Given the description of an element on the screen output the (x, y) to click on. 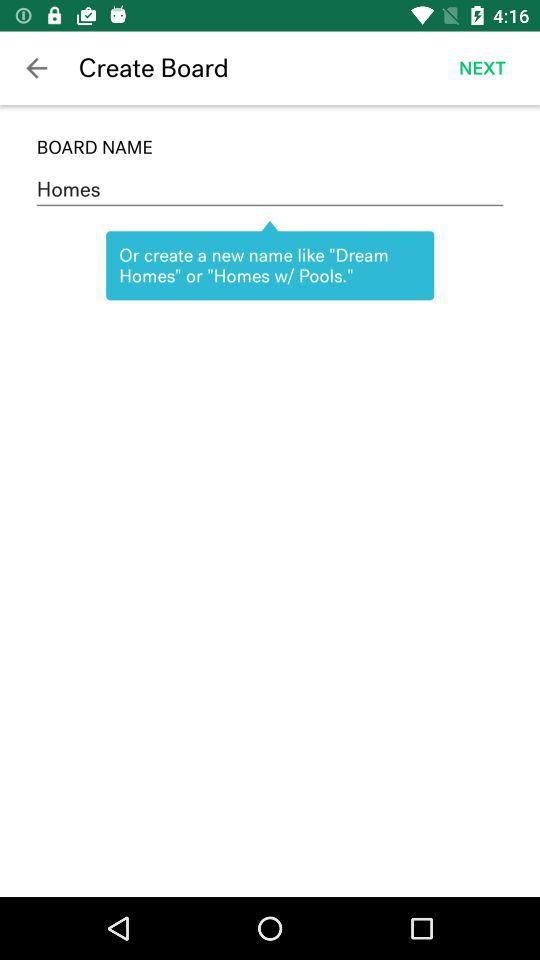
tap the app to the left of the create board icon (36, 68)
